Given the description of an element on the screen output the (x, y) to click on. 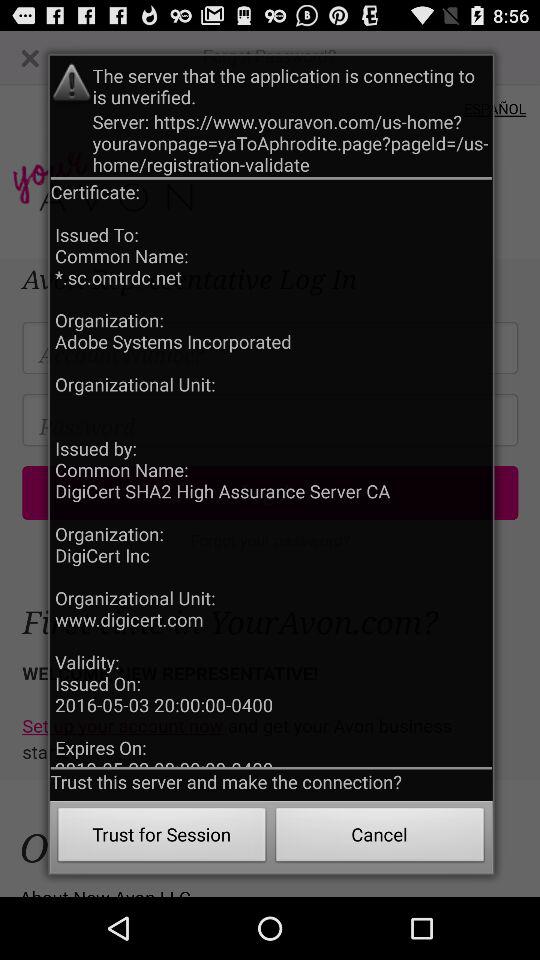
choose the cancel (380, 837)
